Given the description of an element on the screen output the (x, y) to click on. 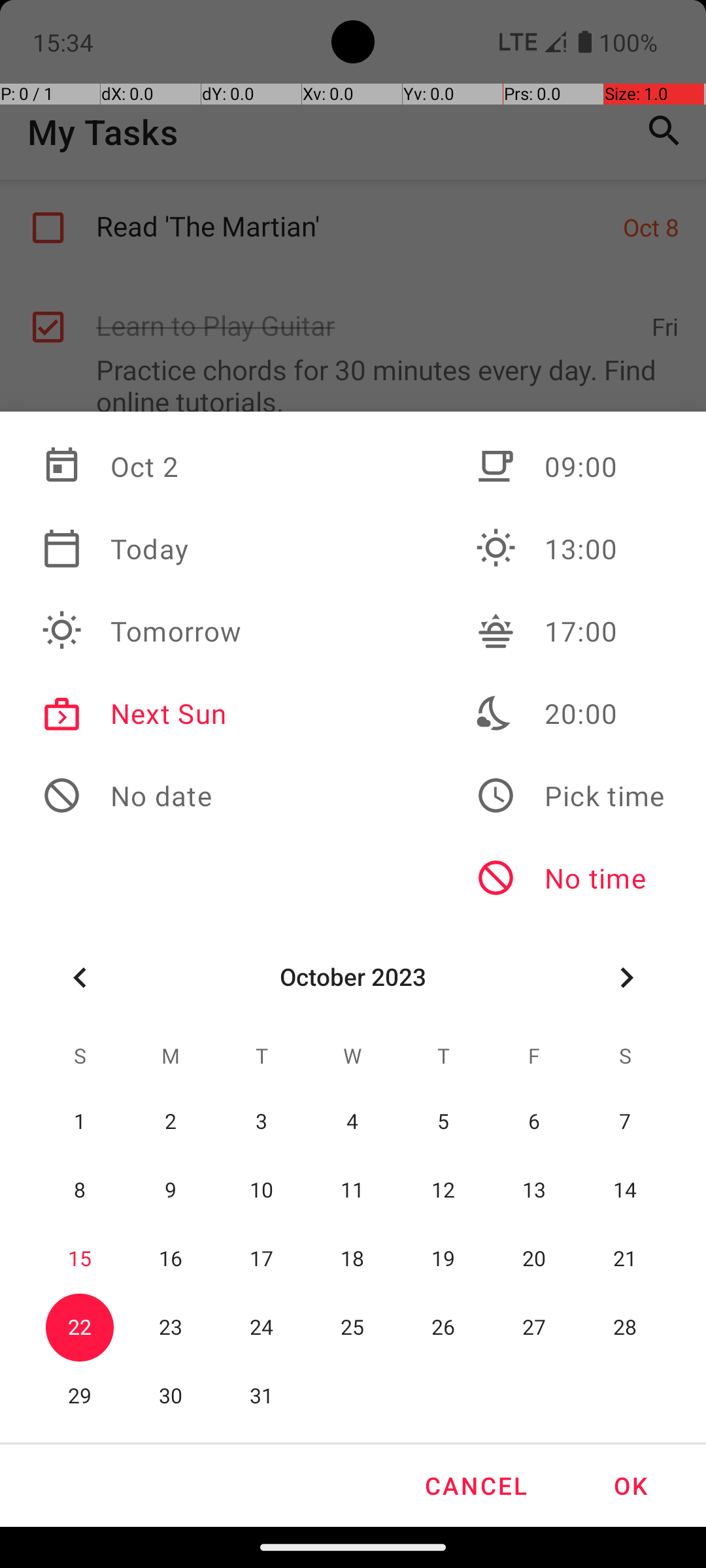
Oct 2 Element type: android.widget.CompoundButton (141, 466)
